Given the description of an element on the screen output the (x, y) to click on. 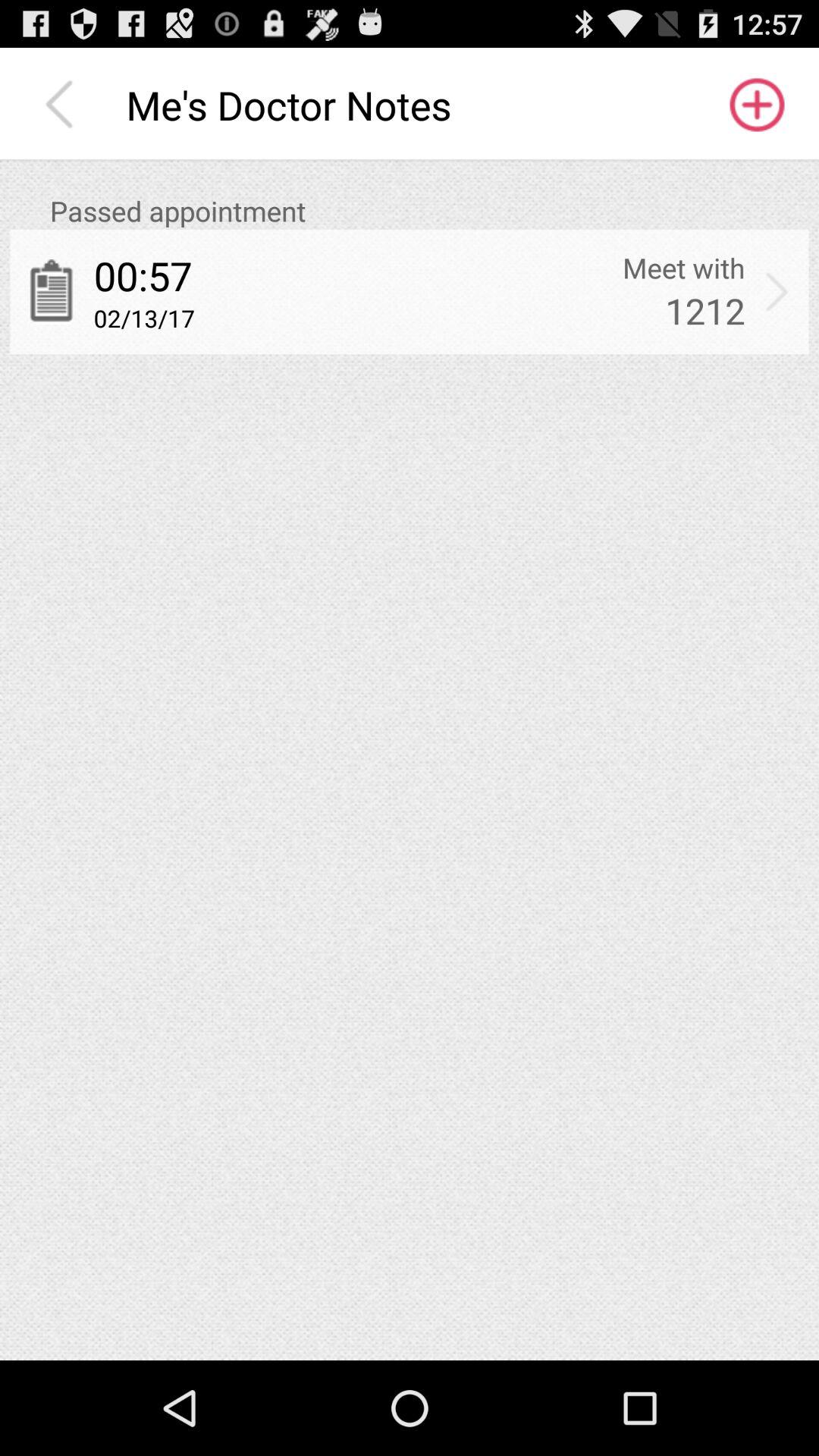
press the app to the right of the me s doctor icon (755, 104)
